Given the description of an element on the screen output the (x, y) to click on. 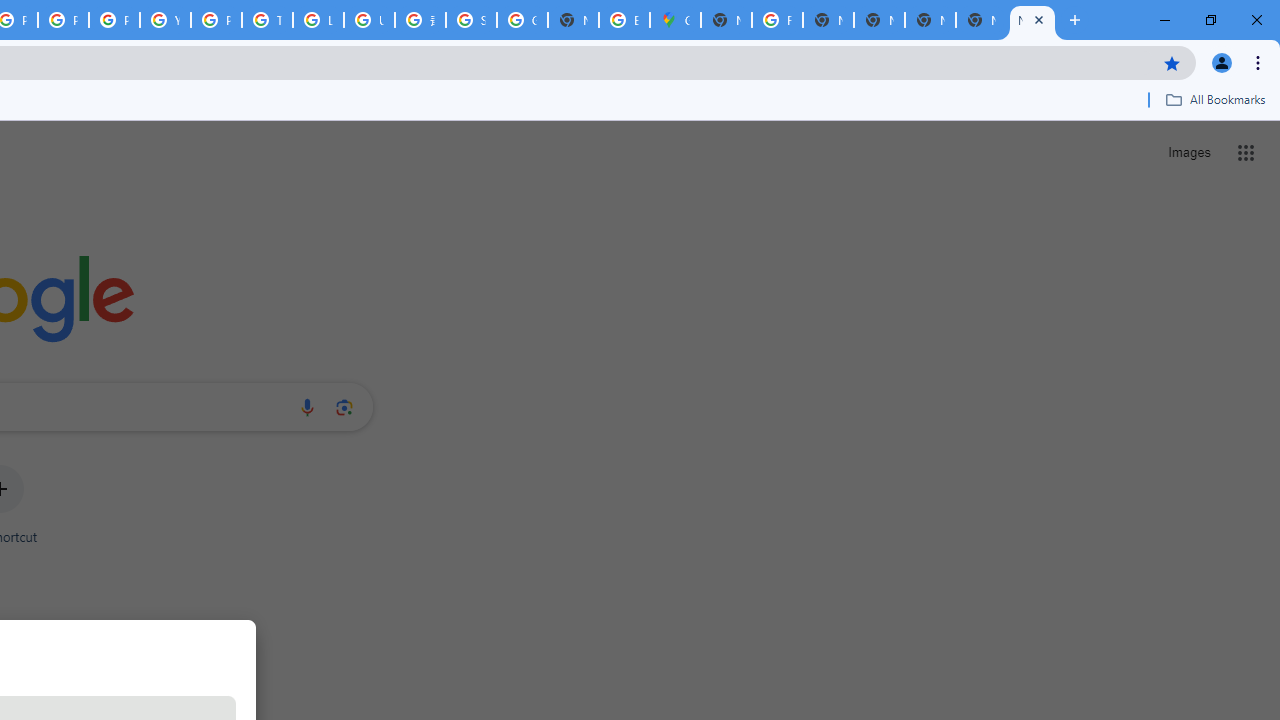
New Tab (726, 20)
YouTube (164, 20)
New Tab (981, 20)
New Tab (1032, 20)
Tips & tricks for Chrome - Google Chrome Help (267, 20)
